Given the description of an element on the screen output the (x, y) to click on. 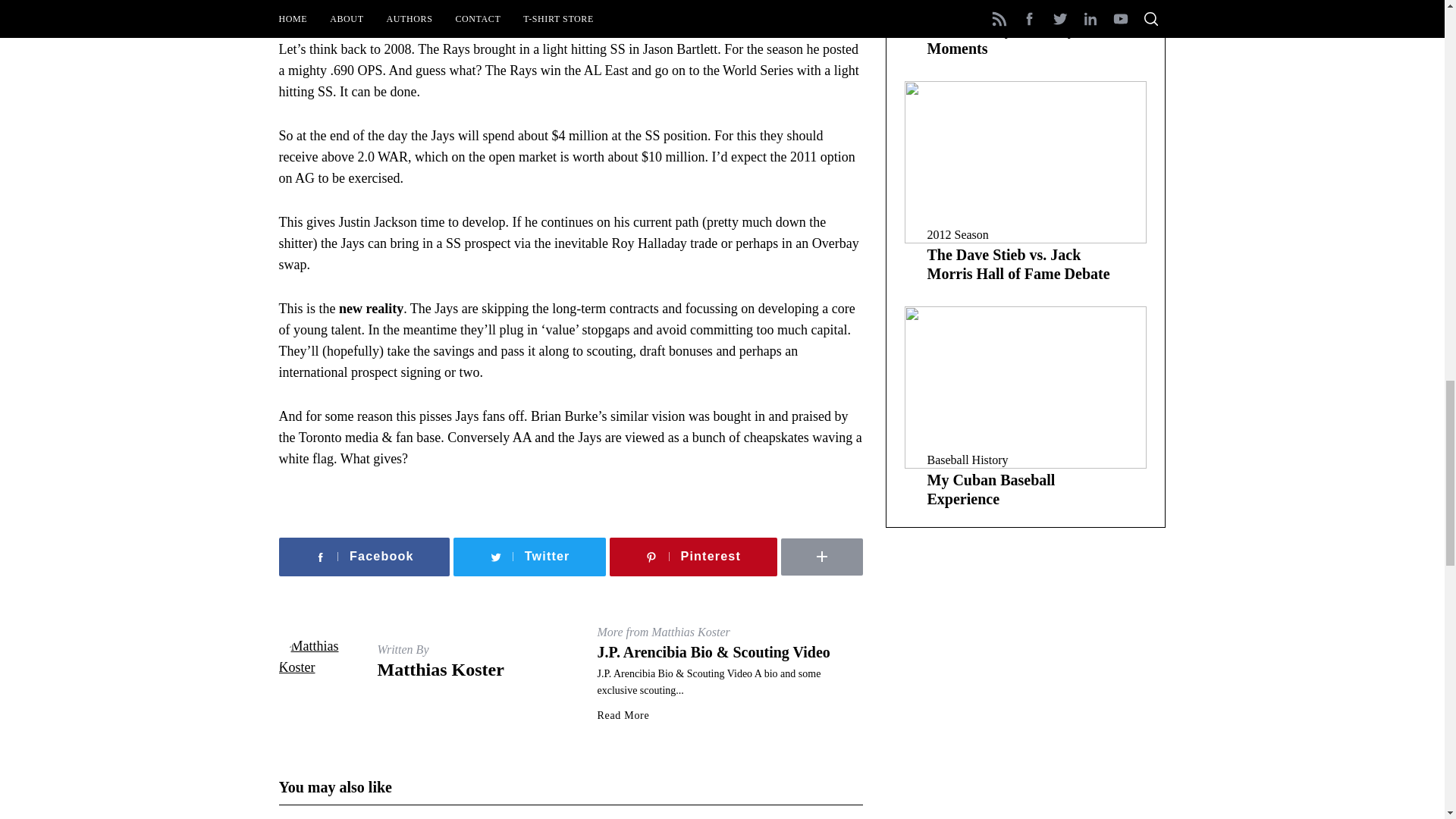
Matthias Koster (440, 669)
Read More (622, 715)
Facebook (364, 556)
Pinterest (693, 556)
LINKEDIN (867, 532)
Twitter (528, 556)
